Given the description of an element on the screen output the (x, y) to click on. 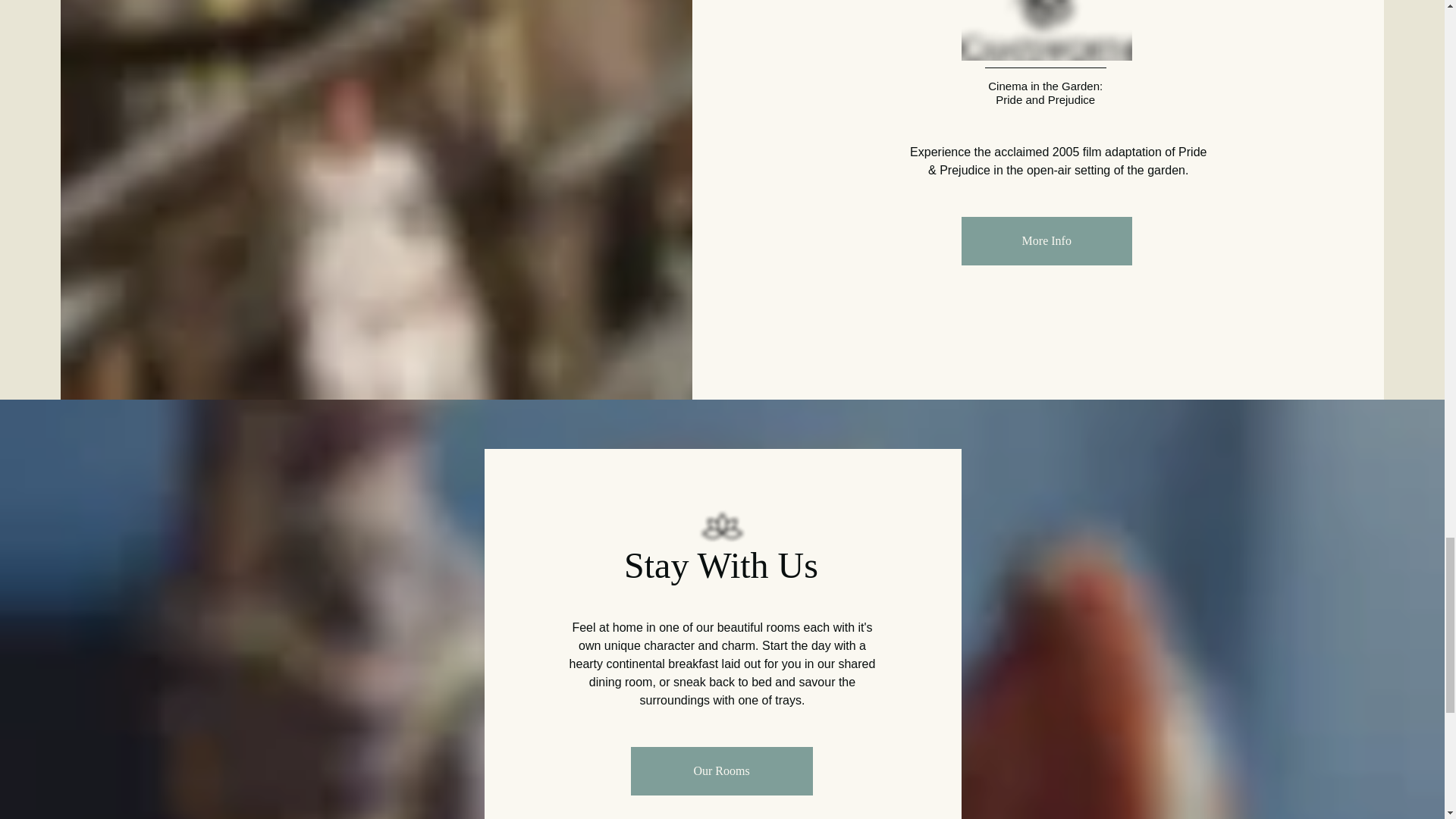
More Info (1046, 241)
Chatsworth Logo (1046, 30)
Our Rooms (721, 770)
